Given the description of an element on the screen output the (x, y) to click on. 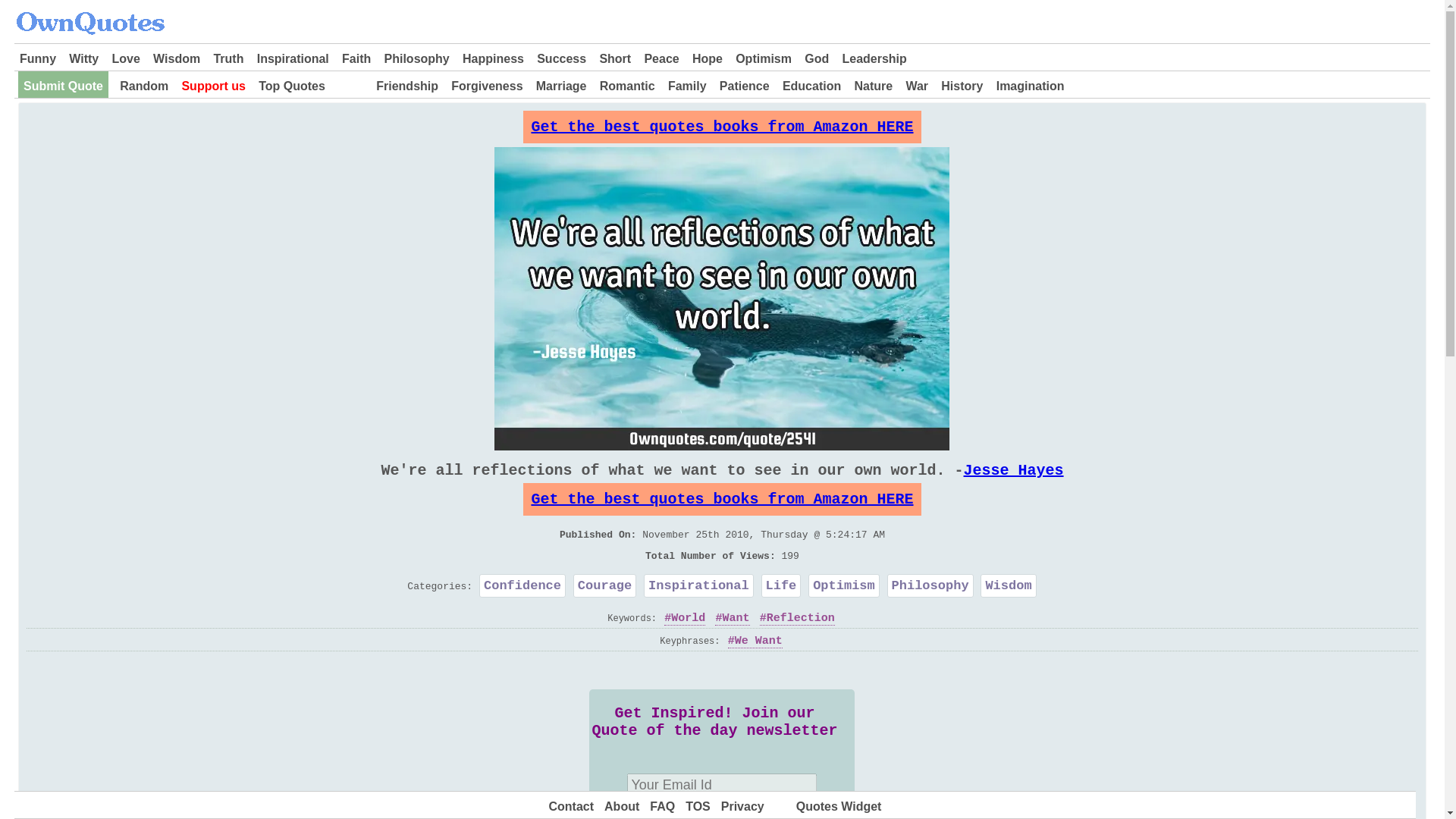
Leadership (874, 58)
Marriage (561, 86)
Education (811, 86)
Inspirational (293, 58)
God (816, 58)
Philosophy (416, 58)
New (350, 86)
Happiness (492, 58)
Patience (744, 86)
War (916, 86)
